Given the description of an element on the screen output the (x, y) to click on. 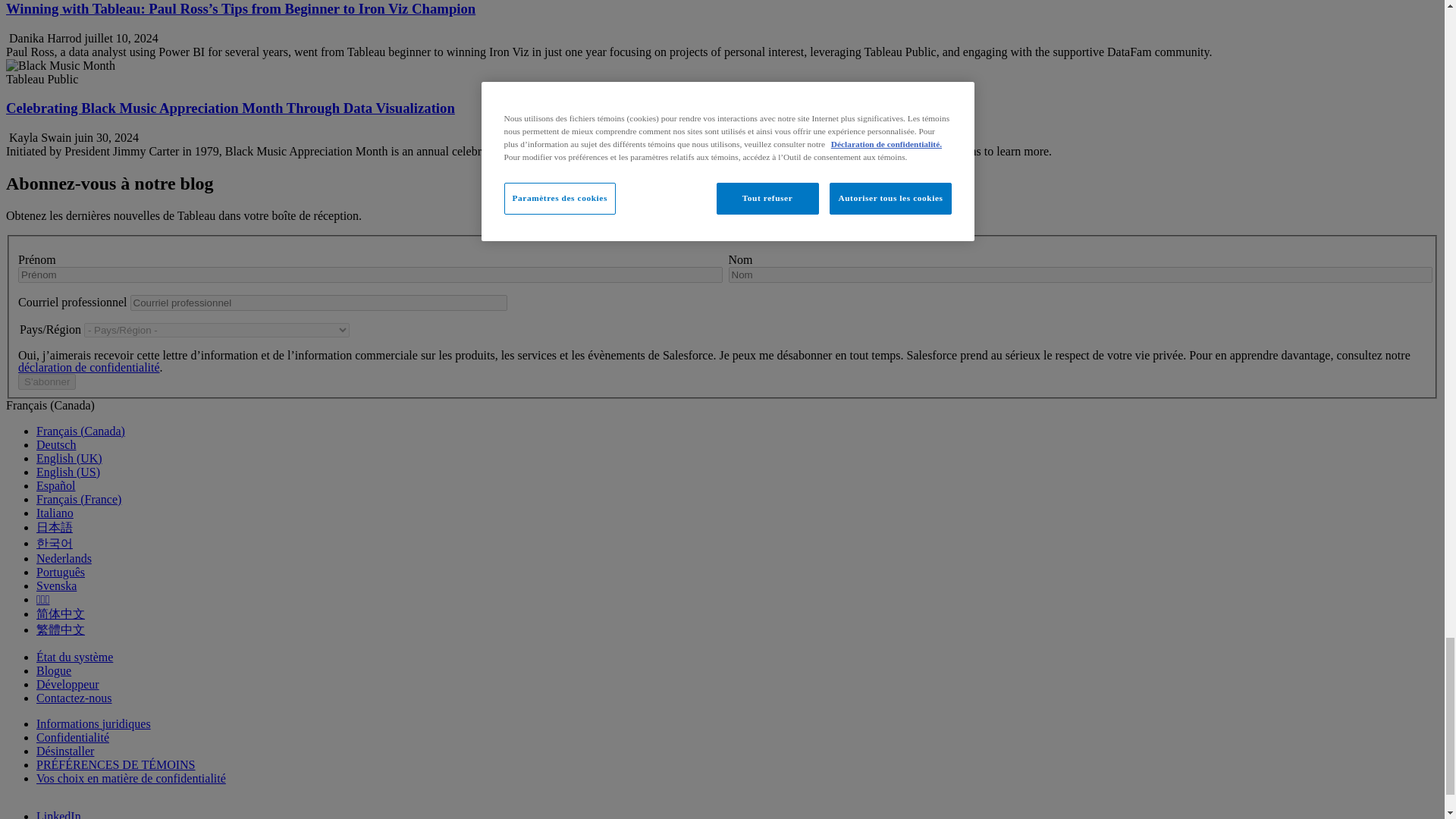
S'abonner (46, 381)
